Given the description of an element on the screen output the (x, y) to click on. 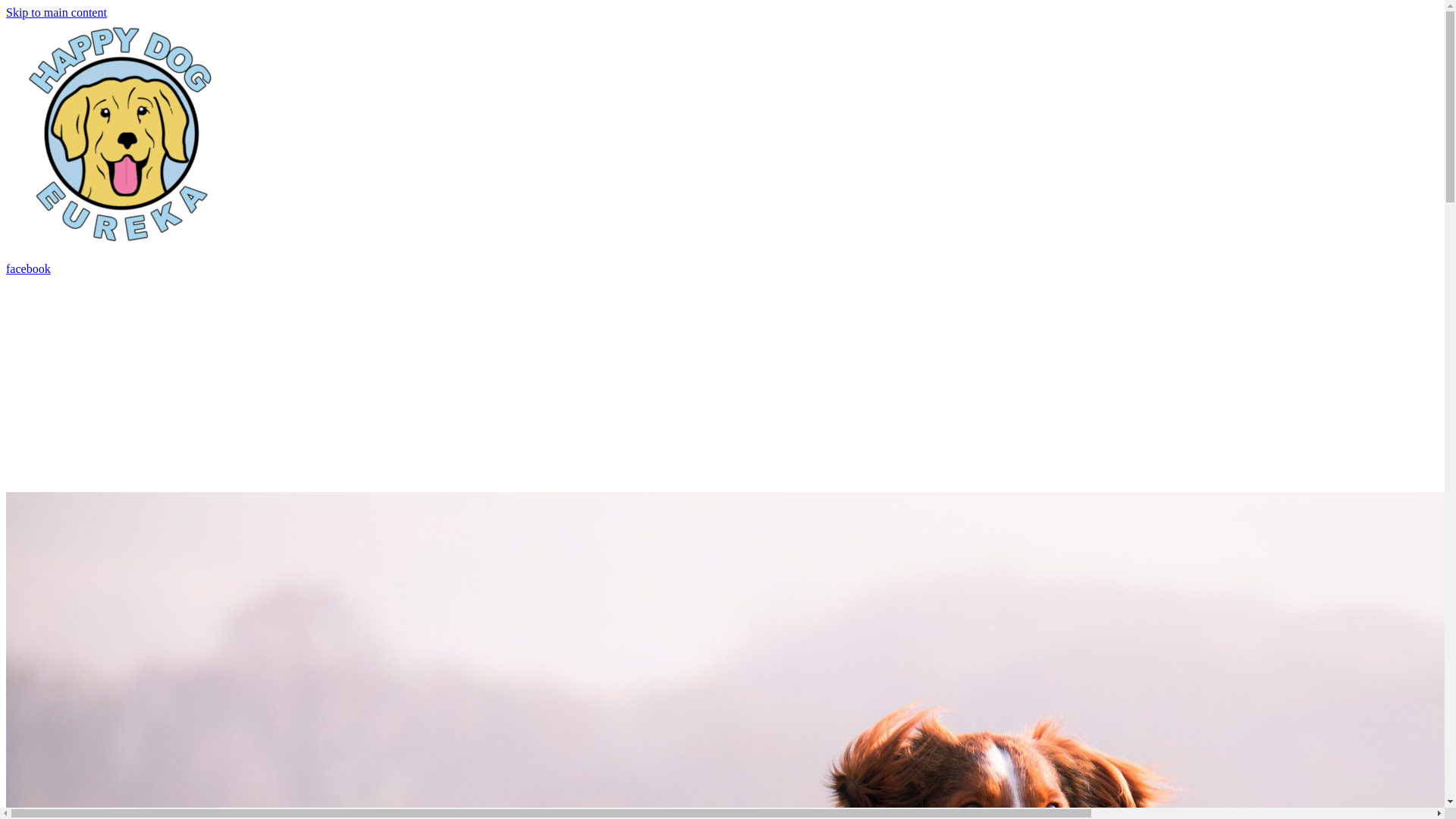
Facebook (449, 269)
facebook (449, 269)
Skip to main content (55, 11)
